Given the description of an element on the screen output the (x, y) to click on. 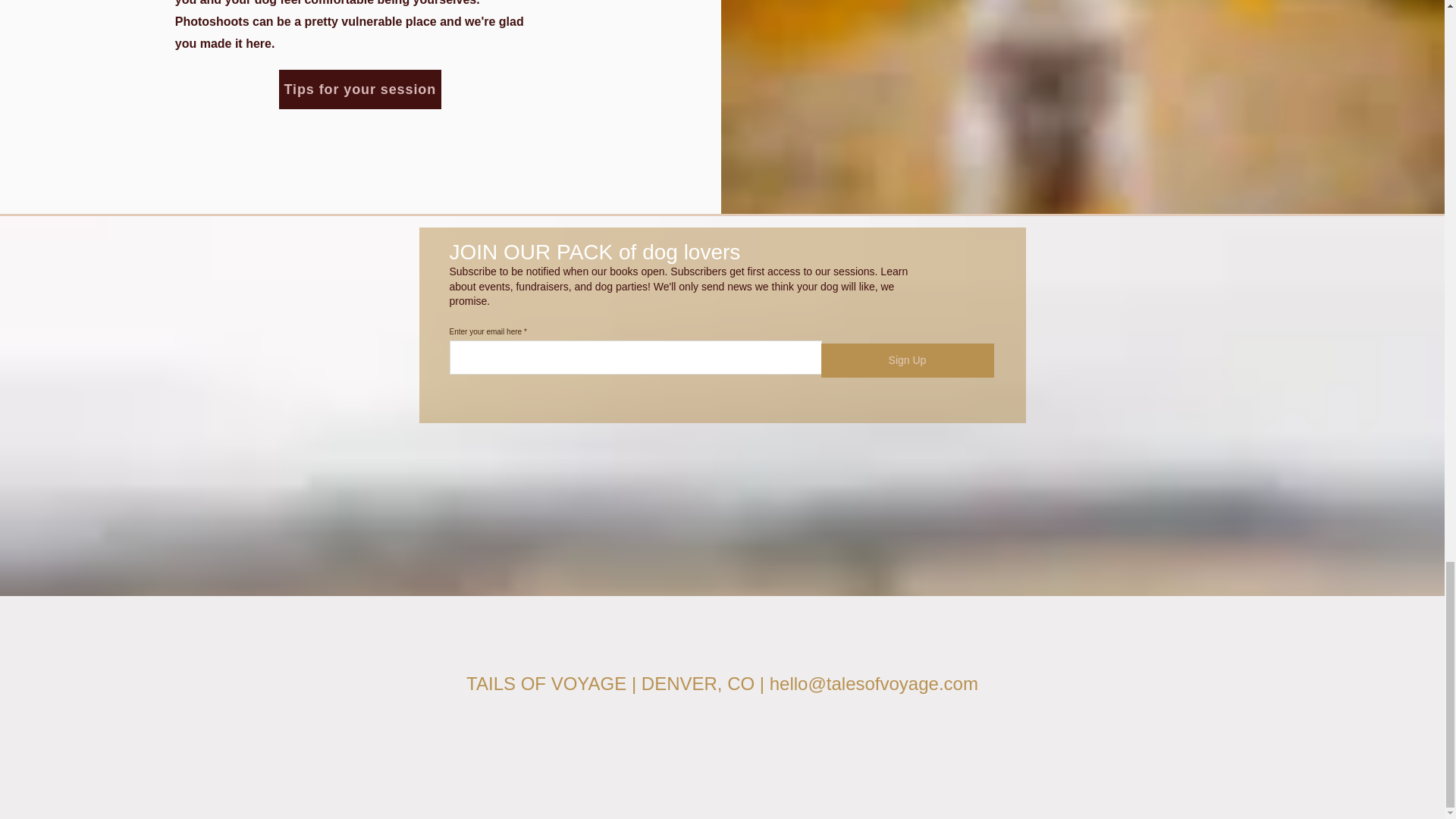
Tips for your session (360, 88)
Sign Up (906, 360)
